Given the description of an element on the screen output the (x, y) to click on. 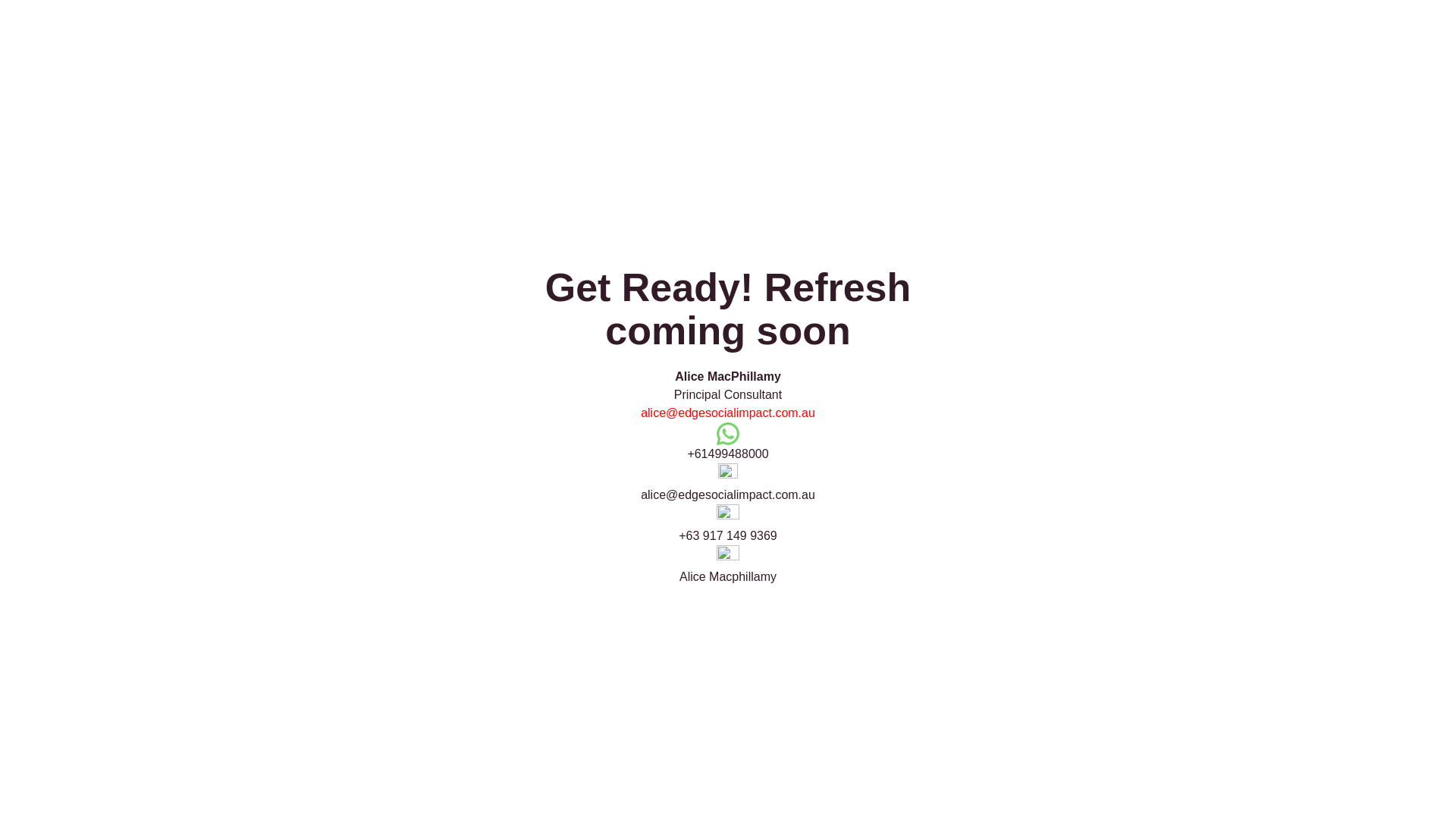
alice@edgesocialimpact.com.au Element type: text (727, 412)
